Given the description of an element on the screen output the (x, y) to click on. 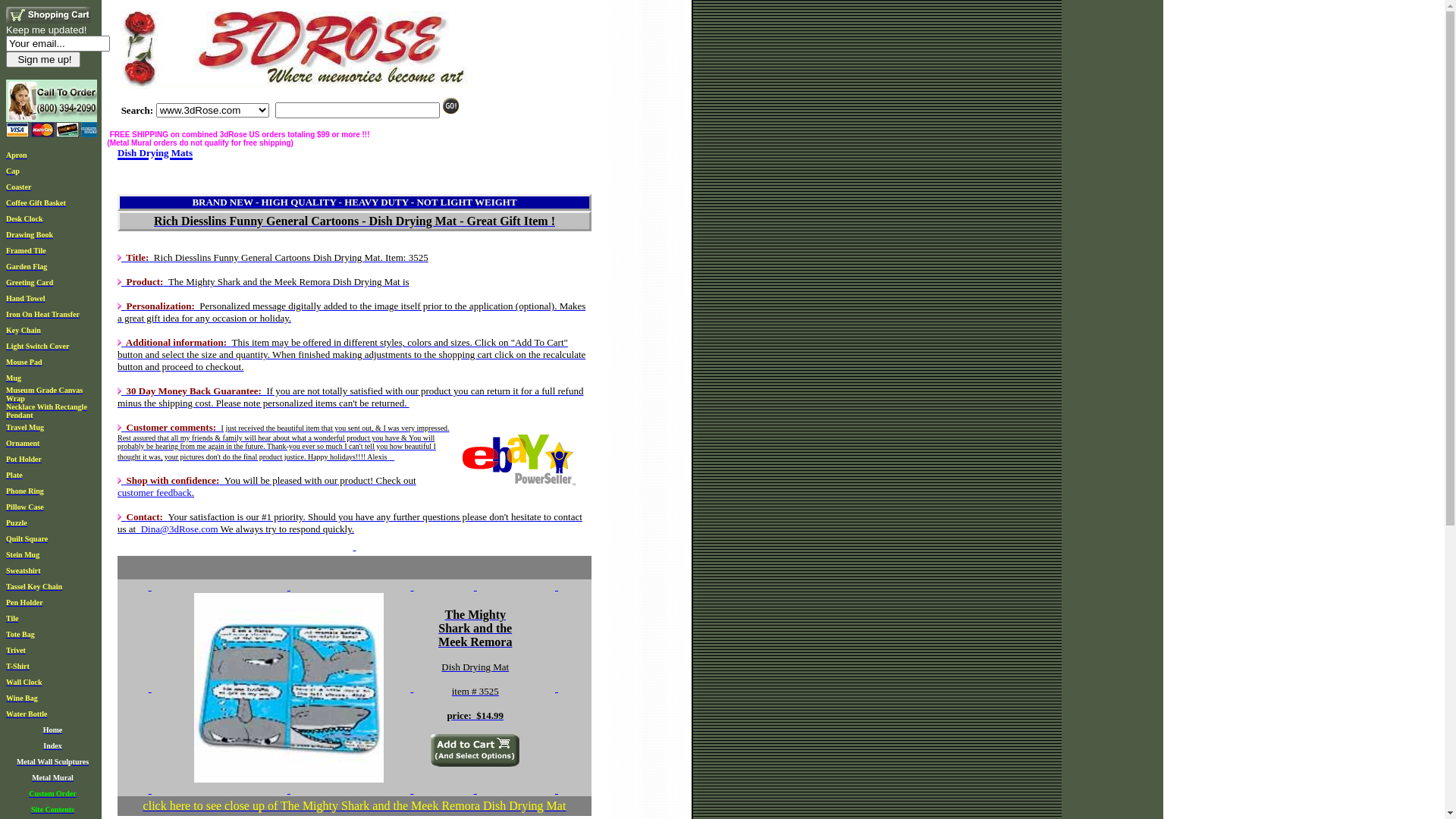
Tote Bag Element type: text (20, 632)
Plate Element type: text (14, 473)
Metal Mural Element type: text (52, 775)
Dina@3dRose.com Element type: text (179, 528)
Desk Clock Element type: text (24, 216)
Site Contents Element type: text (52, 807)
Cap Element type: text (12, 169)
Apron Element type: text (16, 153)
Ornament Element type: text (22, 441)
Metal Wall Sculptures Element type: text (52, 759)
T-Shirt Element type: text (17, 664)
Garden Flag Element type: text (26, 264)
Dish Drying Mats Element type: text (154, 147)
Coaster Element type: text (18, 184)
Key Chain Element type: text (23, 328)
Hand Towel Element type: text (25, 296)
Pot Holder Element type: text (23, 457)
Custom Order Element type: text (52, 791)
Greeting Card Element type: text (29, 280)
Trivet Element type: text (15, 648)
Light Switch Cover Element type: text (37, 344)
Puzzle Element type: text (16, 520)
Travel Mug Element type: text (24, 425)
Mouse Pad Element type: text (24, 360)
Wine Bag Element type: text (21, 696)
Quilt Square Element type: text (26, 536)
Coffee Gift Basket Element type: text (35, 200)
Drawing Book Element type: text (29, 232)
Stein Mug Element type: text (22, 552)
Tile Element type: text (12, 616)
Mug Element type: text (13, 376)
Home Element type: text (52, 727)
  Sign me up!  Element type: text (43, 59)
Index Element type: text (52, 743)
Sweatshirt Element type: text (23, 568)
Necklace With Rectangle Pendant Element type: text (46, 409)
customer feedback Element type: text (154, 492)
Water Bottle Element type: text (26, 712)
Wall Clock Element type: text (24, 680)
Iron On Heat Transfer Element type: text (42, 312)
Pen Holder Element type: text (24, 600)
Museum Grade Canvas Wrap Element type: text (44, 392)
Tassel Key Chain Element type: text (34, 584)
Pillow Case Element type: text (24, 504)
Phone Ring Element type: text (24, 489)
Framed Tile Element type: text (26, 248)
